Given the description of an element on the screen output the (x, y) to click on. 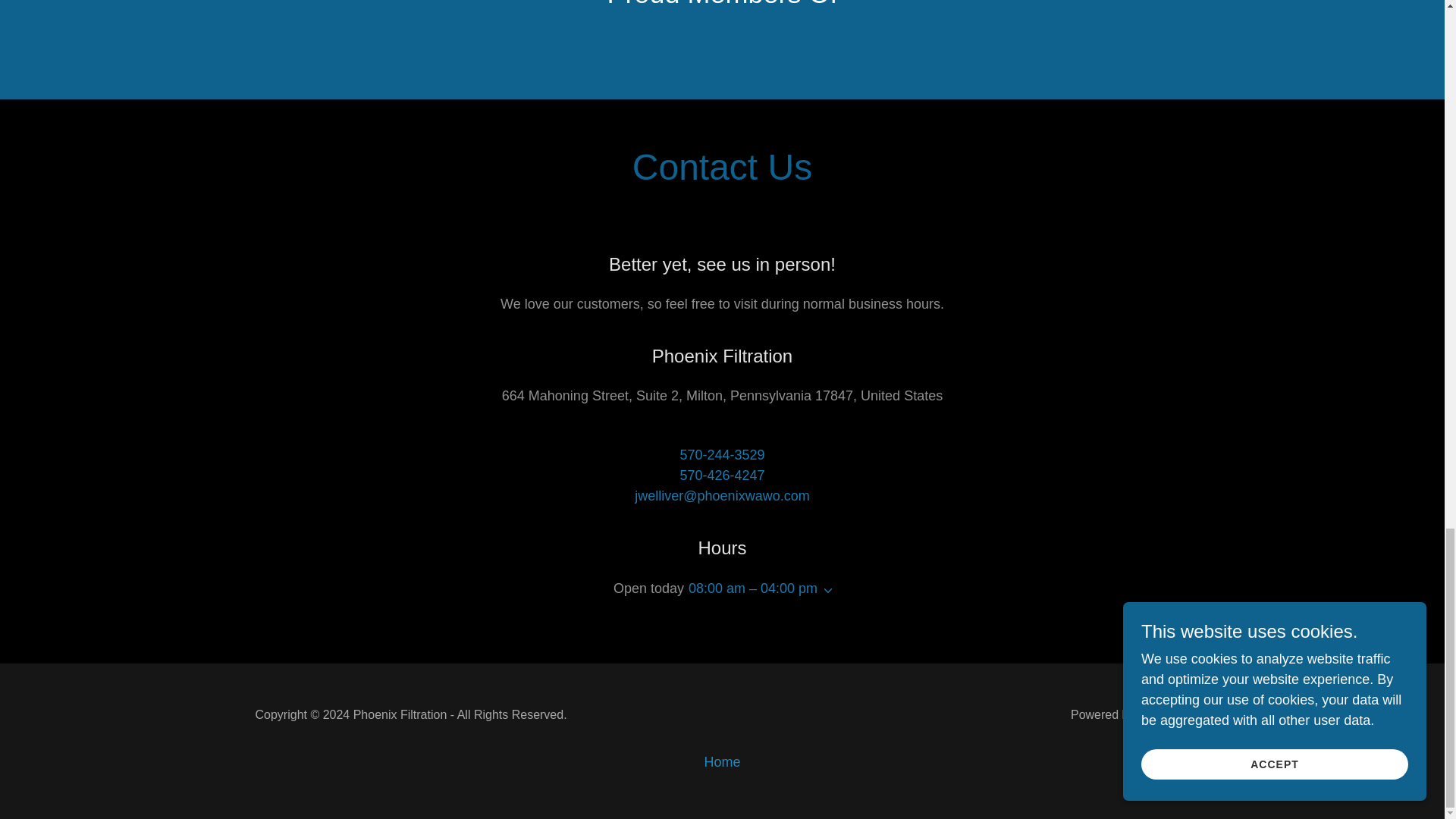
570-426-4247 (721, 475)
Home (721, 762)
GoDaddy (1163, 714)
570-244-3529 (721, 454)
